Given the description of an element on the screen output the (x, y) to click on. 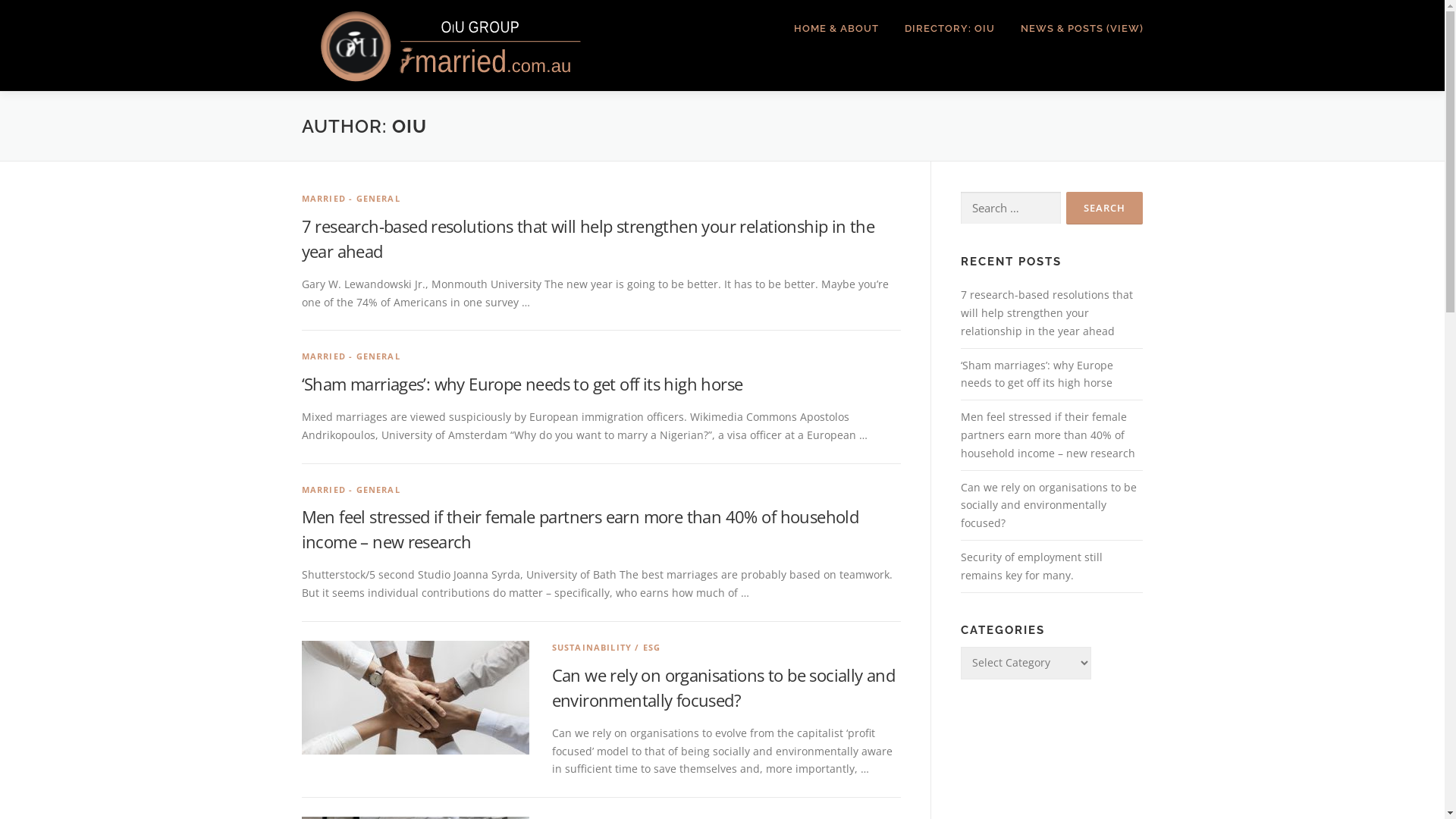
MARRIED - GENERAL Element type: text (350, 197)
NEWS & POSTS (VIEW) Element type: text (1074, 28)
HOME & ABOUT Element type: text (836, 28)
DIRECTORY: OIU Element type: text (949, 28)
SUSTAINABILITY / ESG Element type: text (606, 646)
Search Element type: text (1104, 207)
Security of employment still remains key for many. Element type: text (1030, 565)
MARRIED - GENERAL Element type: text (350, 355)
MARRIED - GENERAL Element type: text (350, 489)
